Given the description of an element on the screen output the (x, y) to click on. 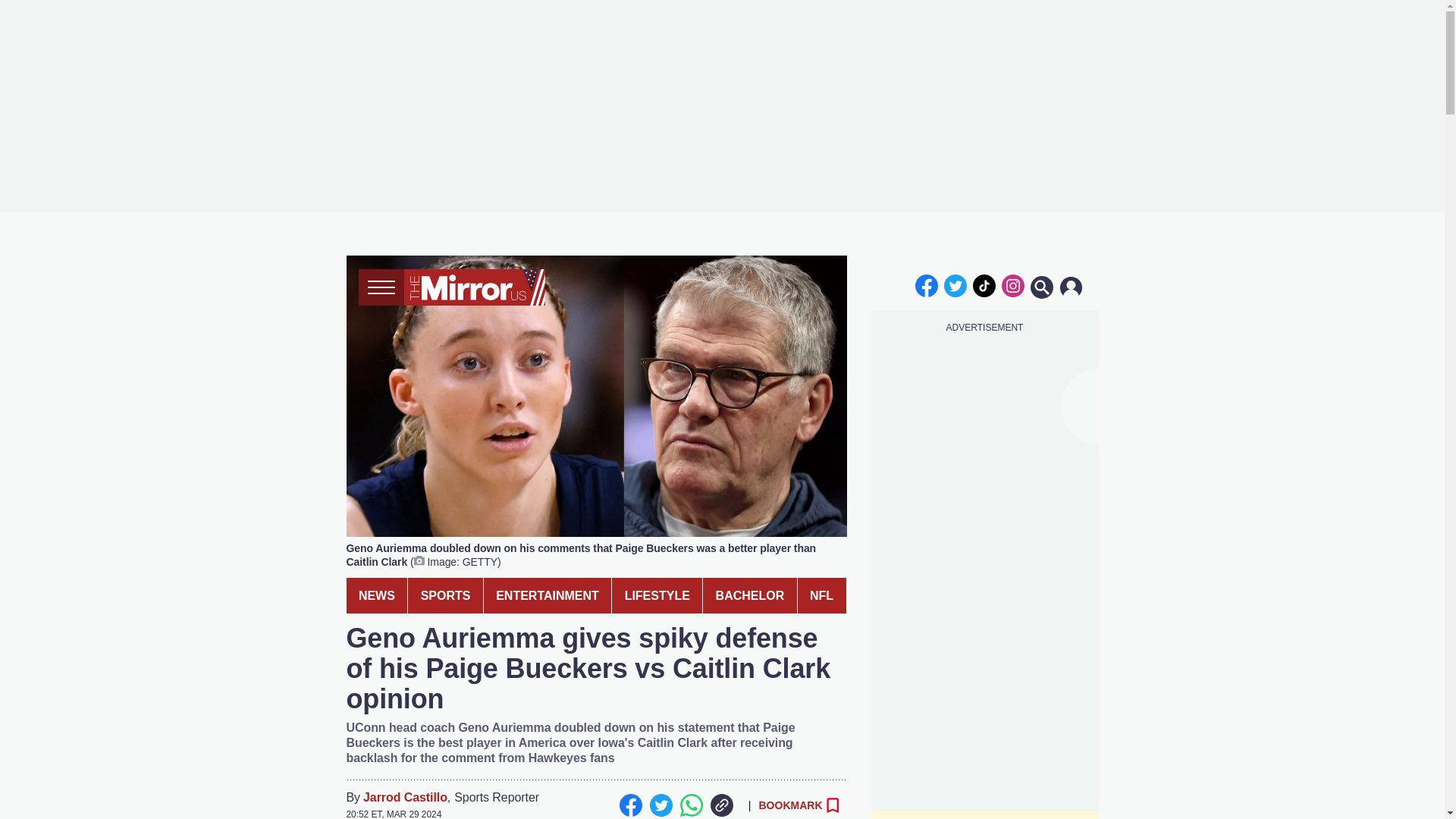
BACHELOR (749, 595)
tiktok (984, 285)
SPORTS (445, 595)
facebook (926, 285)
Facebook (630, 804)
ENTERTAINMENT (547, 595)
LIFESTYLE (656, 595)
NFL (821, 595)
twitter (955, 285)
Whatsapp (690, 804)
Jarrod Castillo (404, 797)
NEWS (376, 595)
instagram (1012, 285)
Twitter (660, 804)
